Given the description of an element on the screen output the (x, y) to click on. 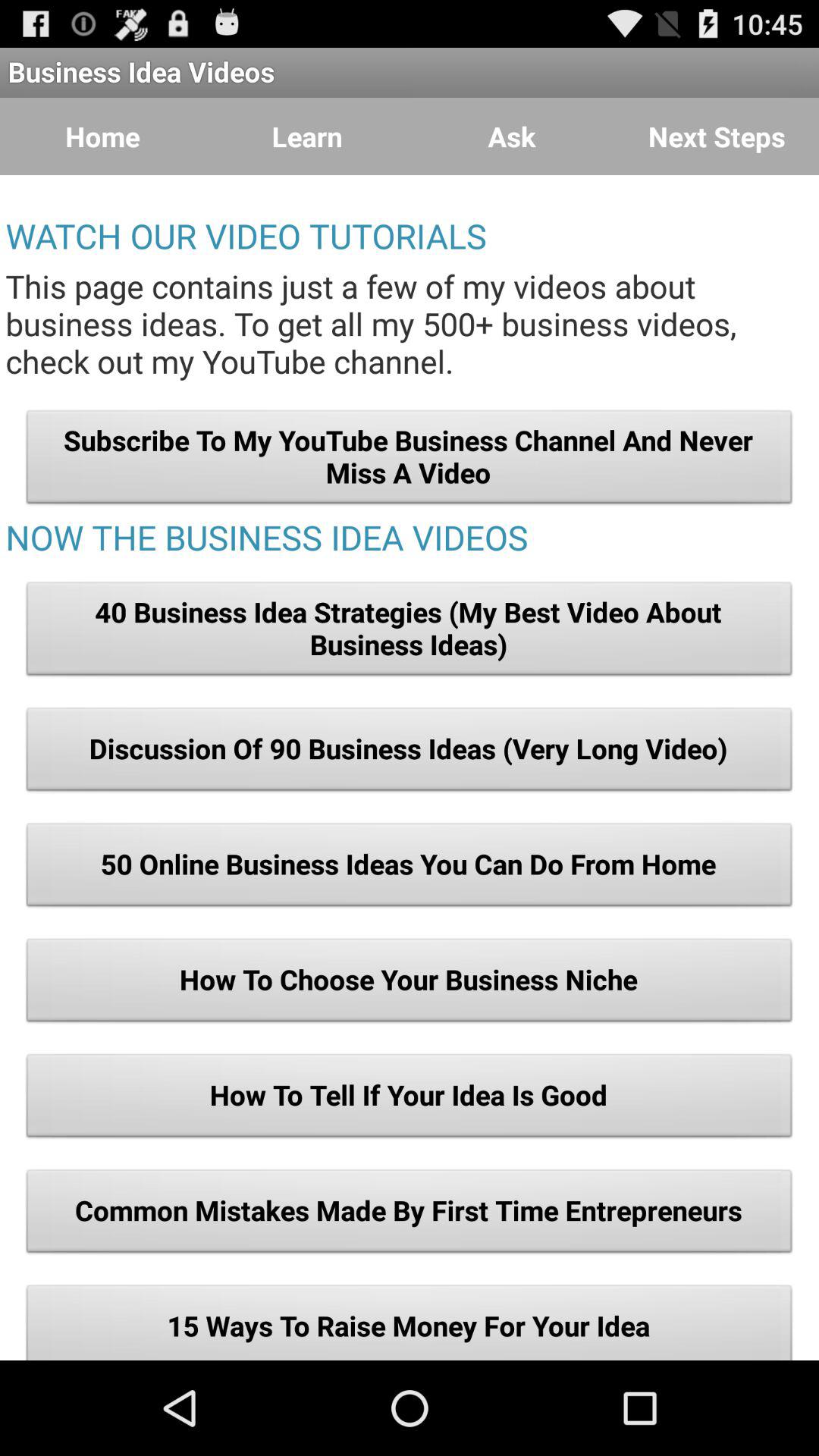
flip to the 50 online business item (409, 868)
